Given the description of an element on the screen output the (x, y) to click on. 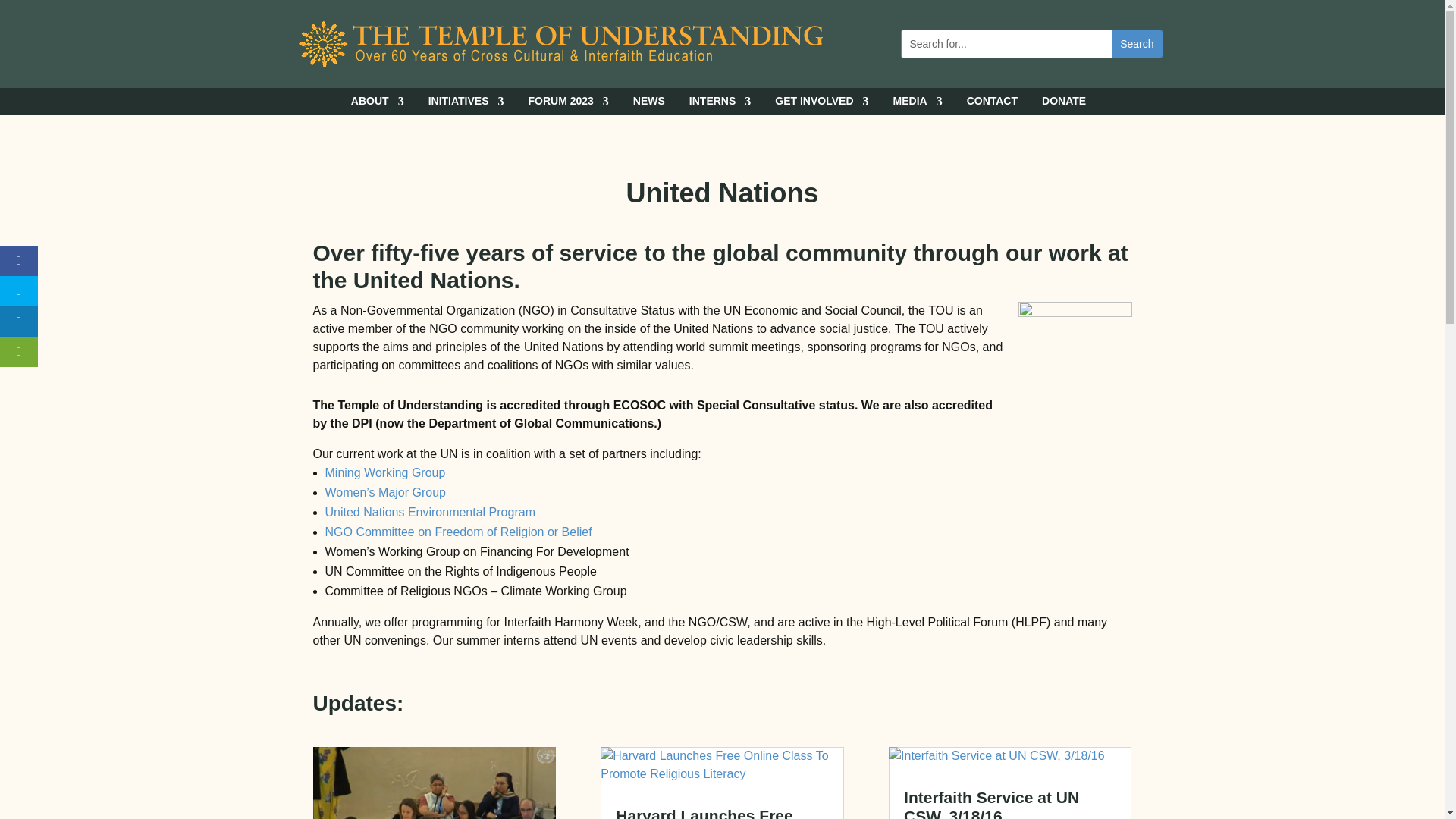
ABOUT (377, 104)
FORUM 2023 (567, 104)
Search (1136, 43)
MEDIA (917, 104)
Search (1136, 43)
NEWS (649, 104)
GET INVOLVED (820, 104)
INTERNS (719, 104)
INITIATIVES (465, 104)
CONTACT (991, 104)
temple-of-understanding-full-text-logo-022323 (559, 43)
Search (1136, 43)
